Given the description of an element on the screen output the (x, y) to click on. 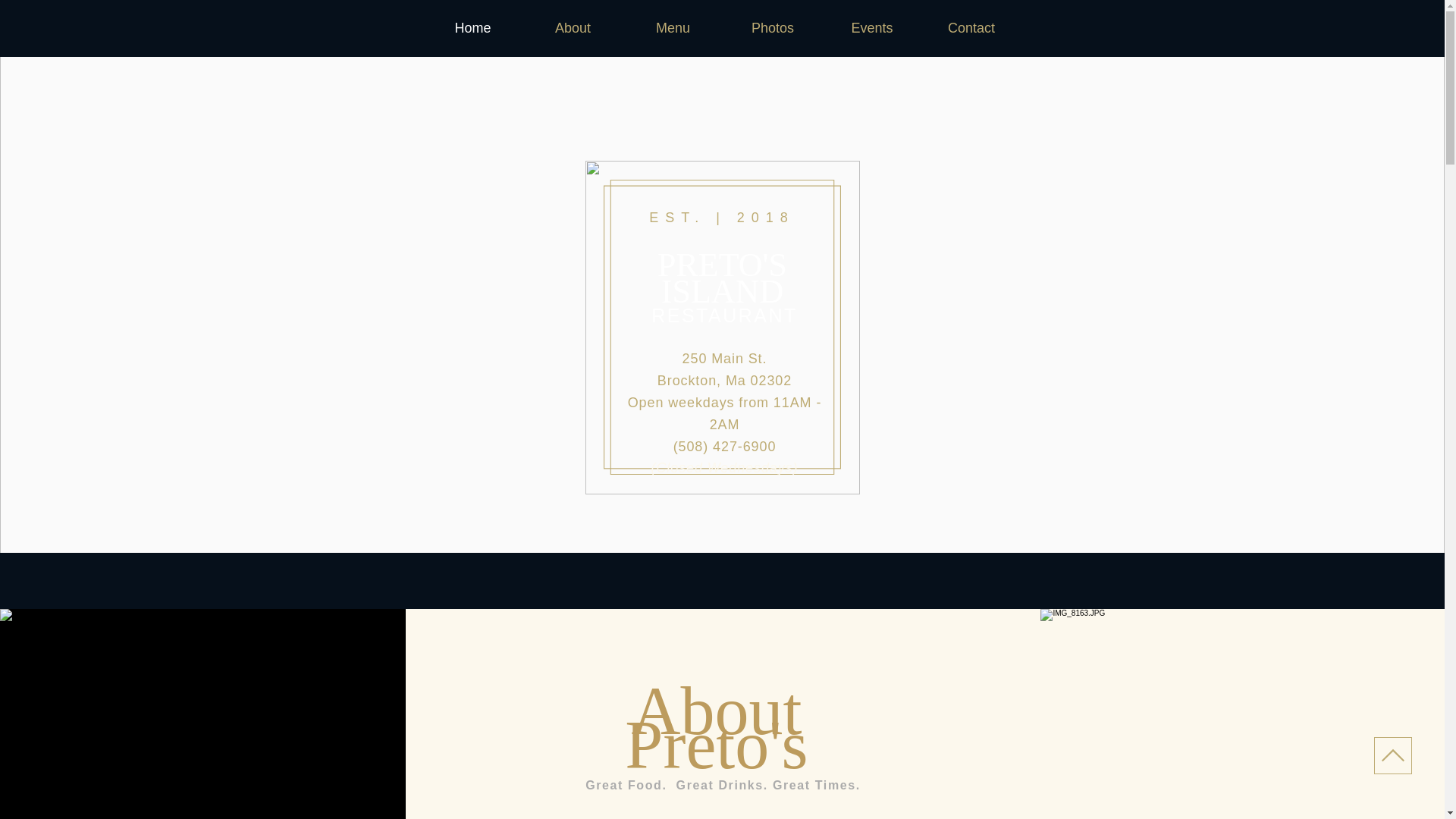
Menu (673, 27)
Home (472, 27)
Events (871, 27)
Photos (772, 27)
Contact (971, 27)
About (572, 27)
